Given the description of an element on the screen output the (x, y) to click on. 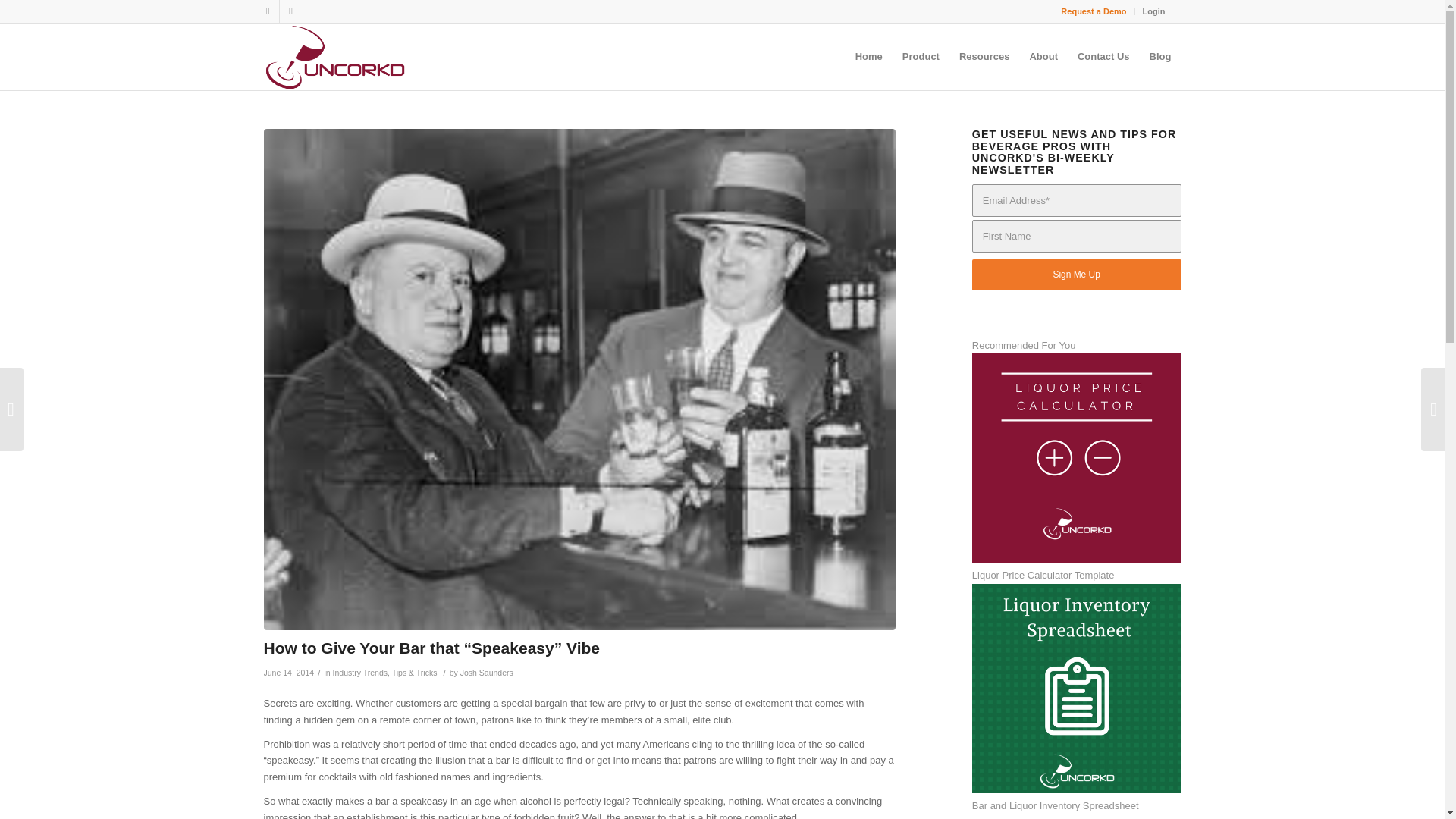
Contact Us (1103, 56)
Login (1154, 11)
About (1043, 56)
Home (868, 56)
Request a Demo (1093, 11)
Sign Me Up (1076, 274)
Twitter (267, 11)
Facebook (290, 11)
Posts by Josh Saunders (486, 672)
Product (920, 56)
Industry Trends (360, 672)
Blog (1160, 56)
Resources (984, 56)
Josh Saunders (486, 672)
